Given the description of an element on the screen output the (x, y) to click on. 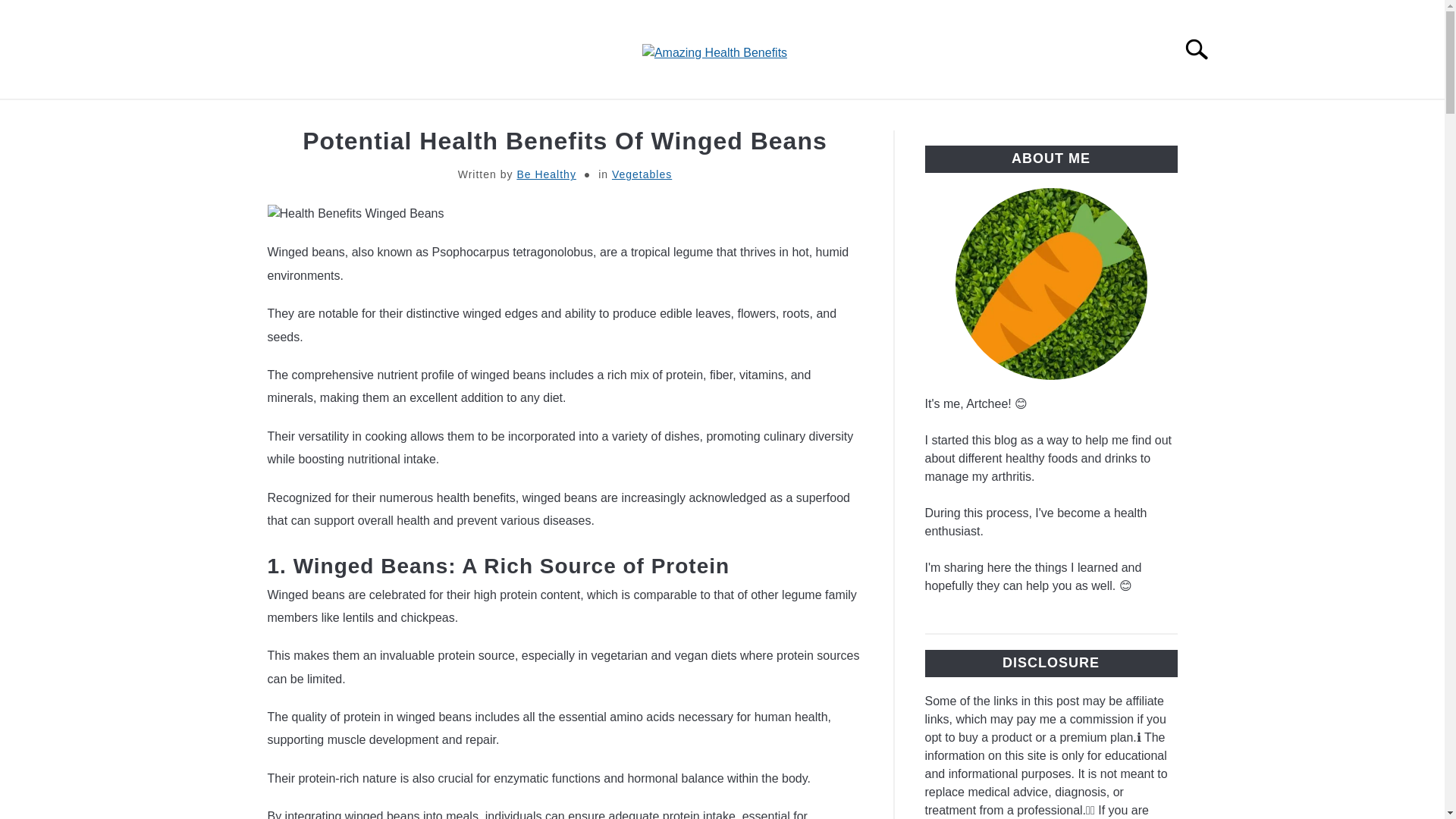
HOME (314, 117)
DAIRIES (958, 117)
DRINKS (1042, 117)
GRAINS (1124, 117)
VEGETABLES (496, 117)
FRUITS (596, 117)
SAUCES (393, 117)
HERBS (674, 117)
SPICES (753, 117)
Vegetables (641, 174)
Be Healthy (545, 174)
Search (1203, 49)
CONDIMENTS (854, 117)
